Given the description of an element on the screen output the (x, y) to click on. 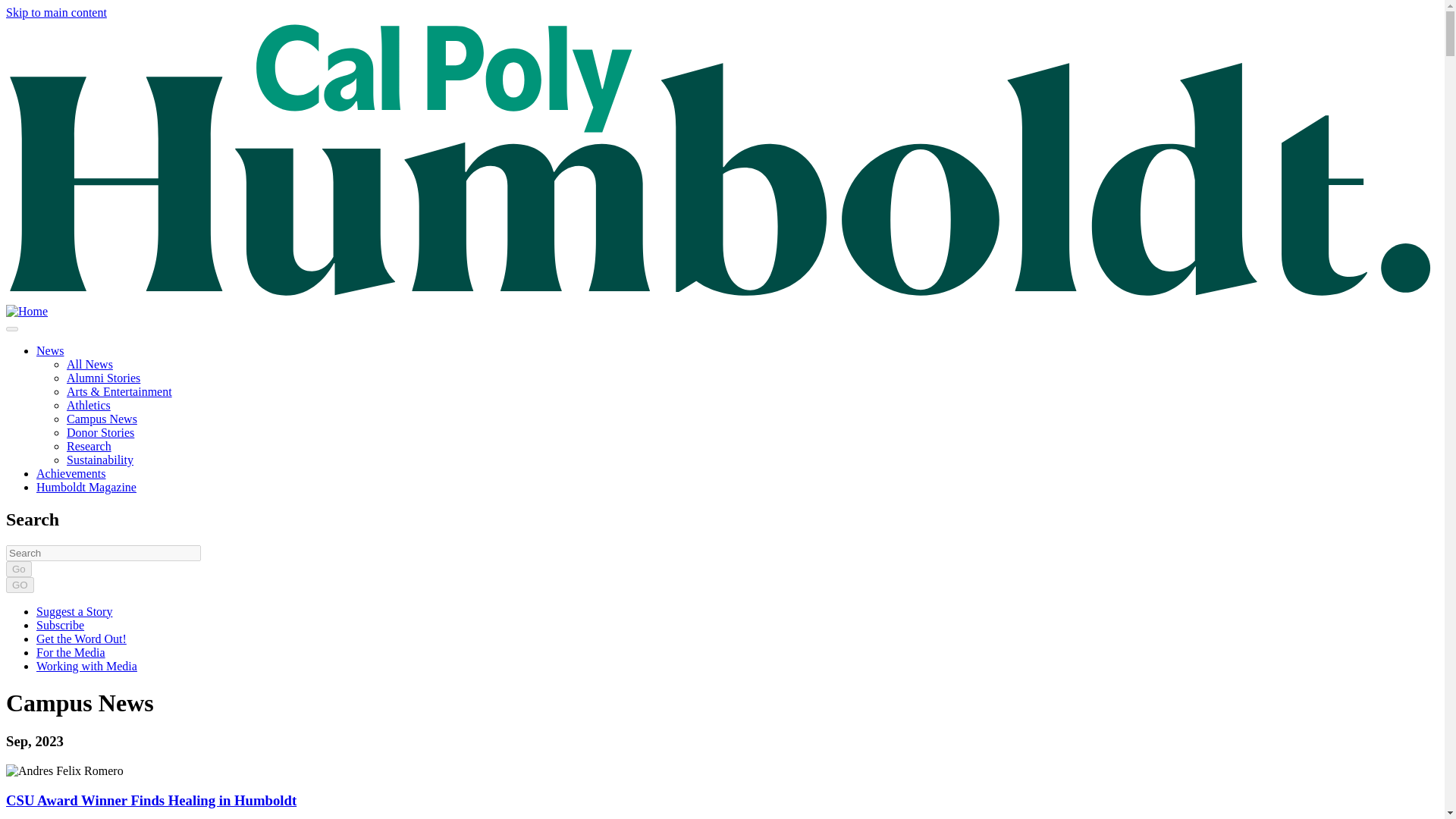
Alumni Stories (102, 377)
Home (26, 310)
Research (89, 445)
All News (89, 364)
Go (18, 569)
Athletics (88, 404)
News (50, 350)
For the Media (70, 652)
Working with Media (86, 666)
Get the Word Out! (81, 638)
GO (19, 584)
Subscribe (60, 625)
Campus News (101, 418)
Donor Stories (99, 431)
Skip to main content (55, 11)
